Given the description of an element on the screen output the (x, y) to click on. 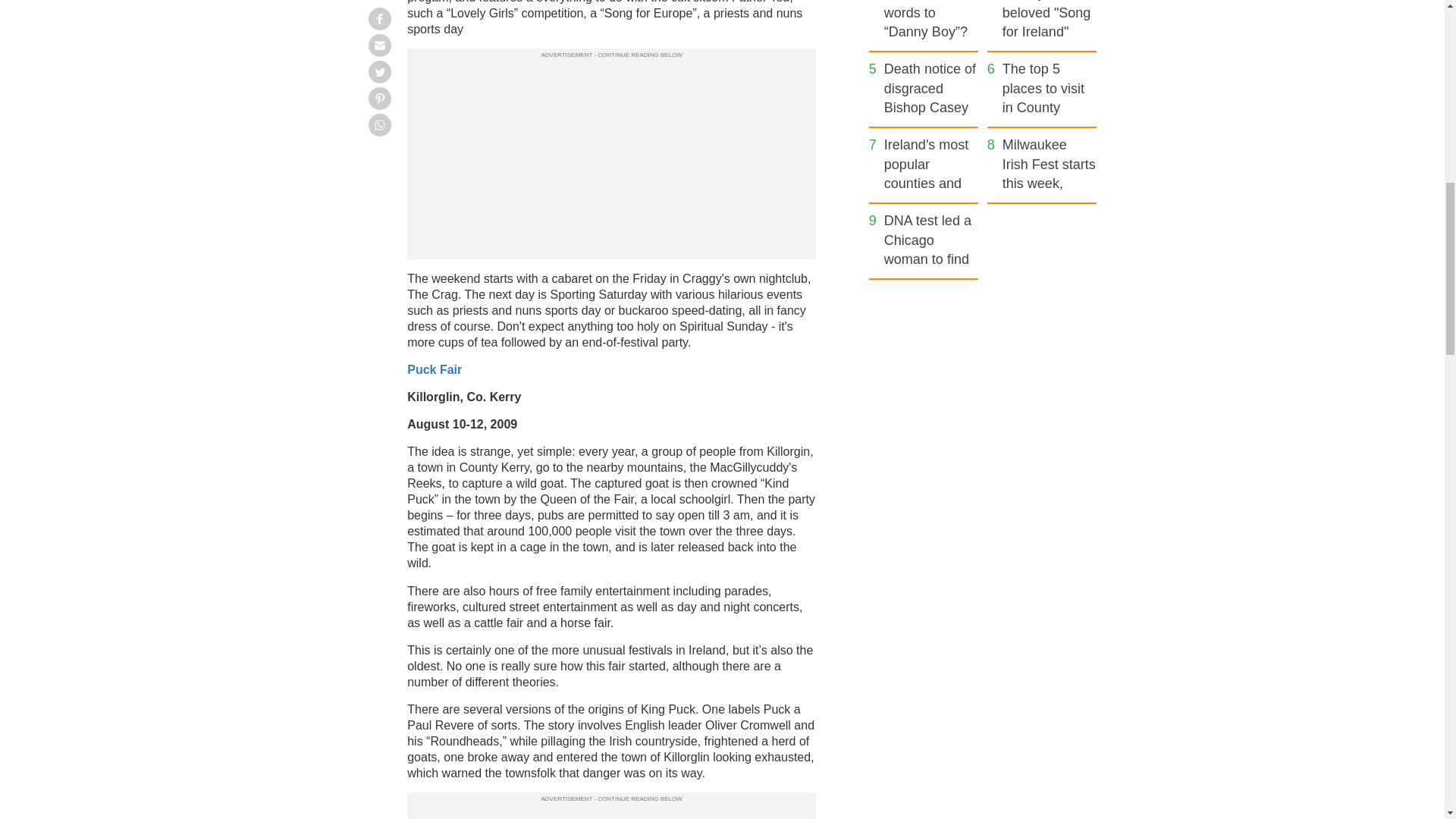
3rd party ad content (611, 812)
3rd party ad content (982, 393)
3rd party ad content (611, 156)
